Given the description of an element on the screen output the (x, y) to click on. 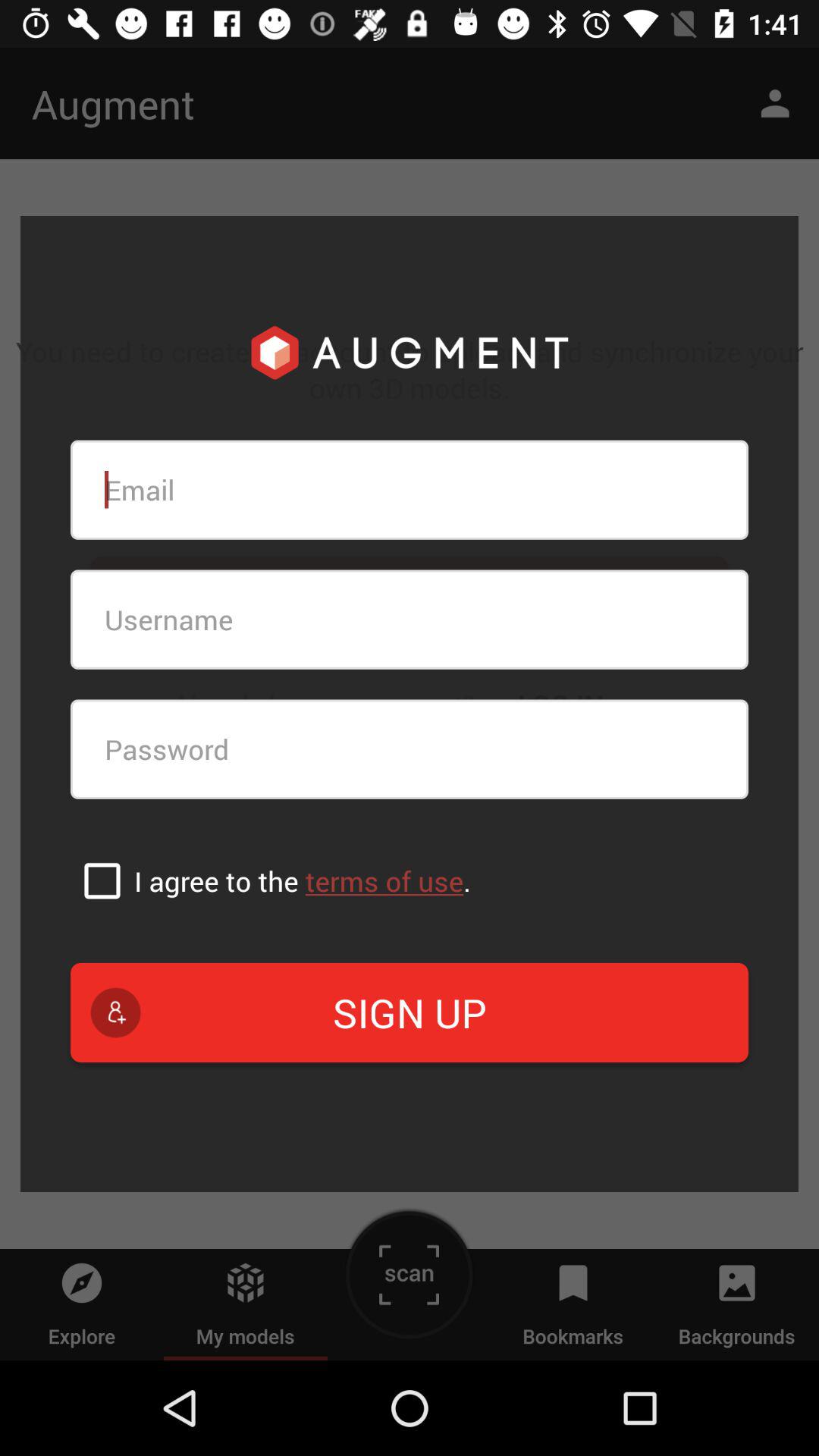
choose icon on the left (102, 880)
